Given the description of an element on the screen output the (x, y) to click on. 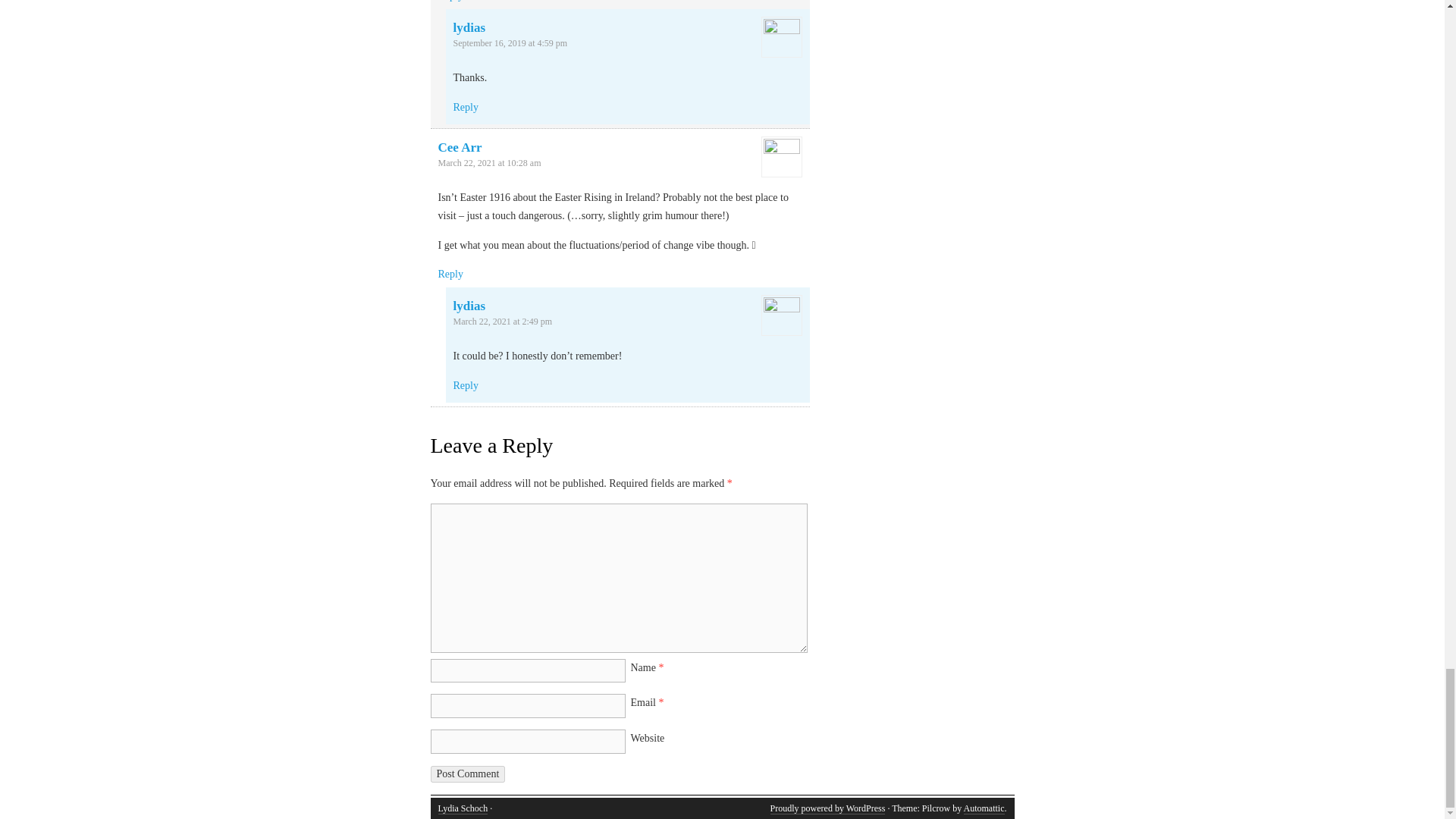
Lydia Schoch (462, 808)
Post Comment (467, 773)
A Semantic Personal Publishing Platform (827, 808)
